Given the description of an element on the screen output the (x, y) to click on. 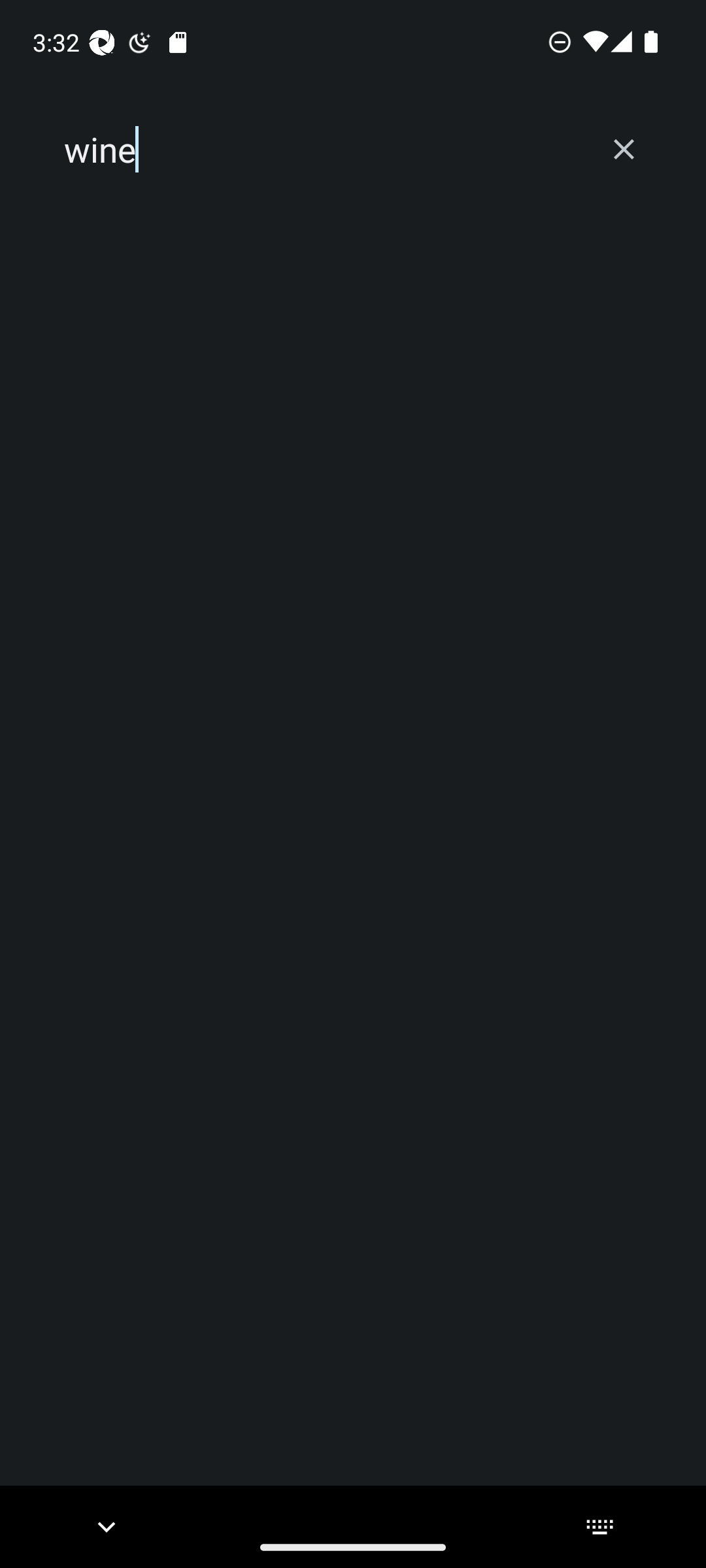
wine (321, 149)
Clear search box (623, 149)
